Given the description of an element on the screen output the (x, y) to click on. 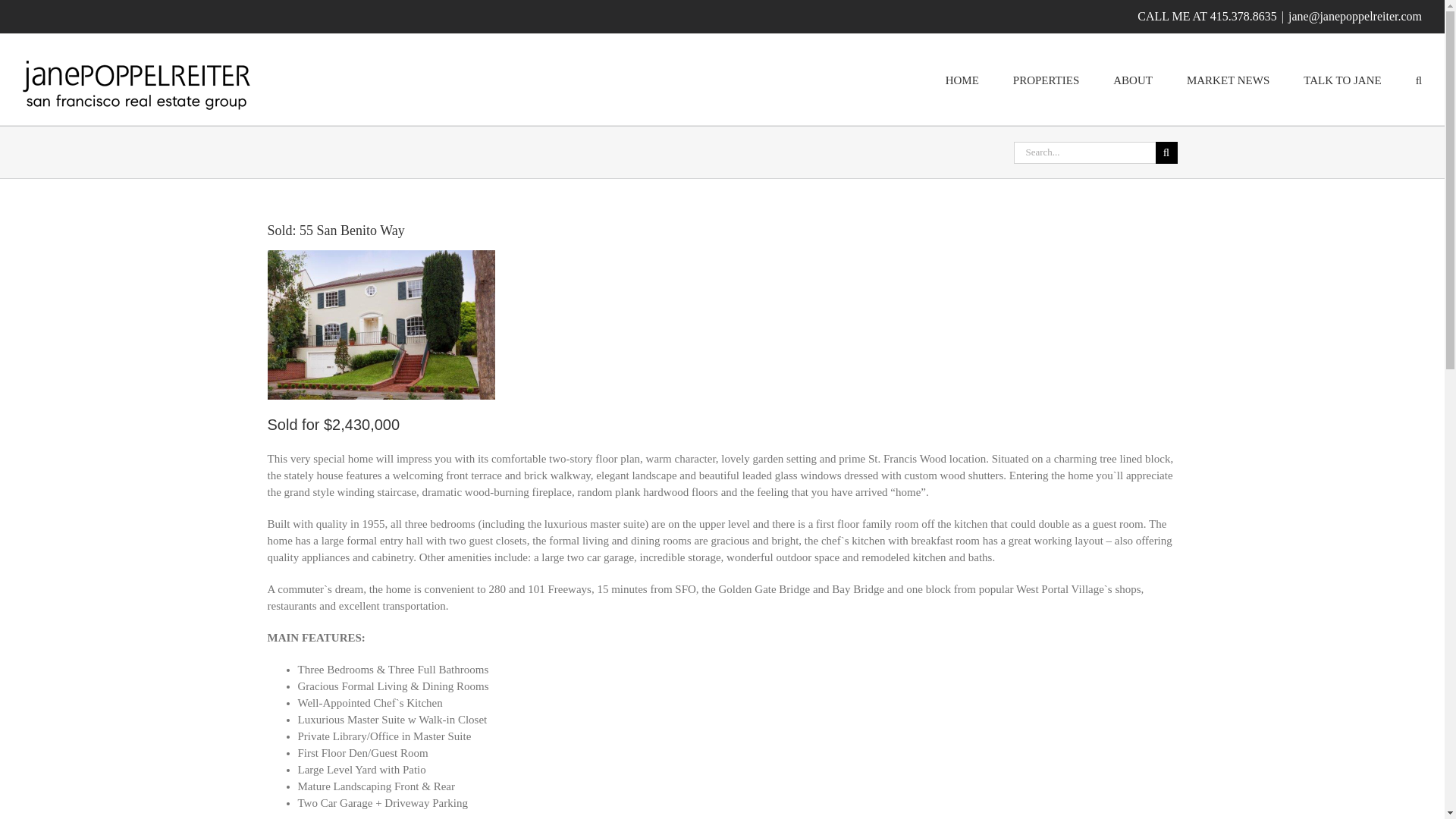
415.378.8635 (1242, 15)
MARKET NEWS (1227, 79)
